Given the description of an element on the screen output the (x, y) to click on. 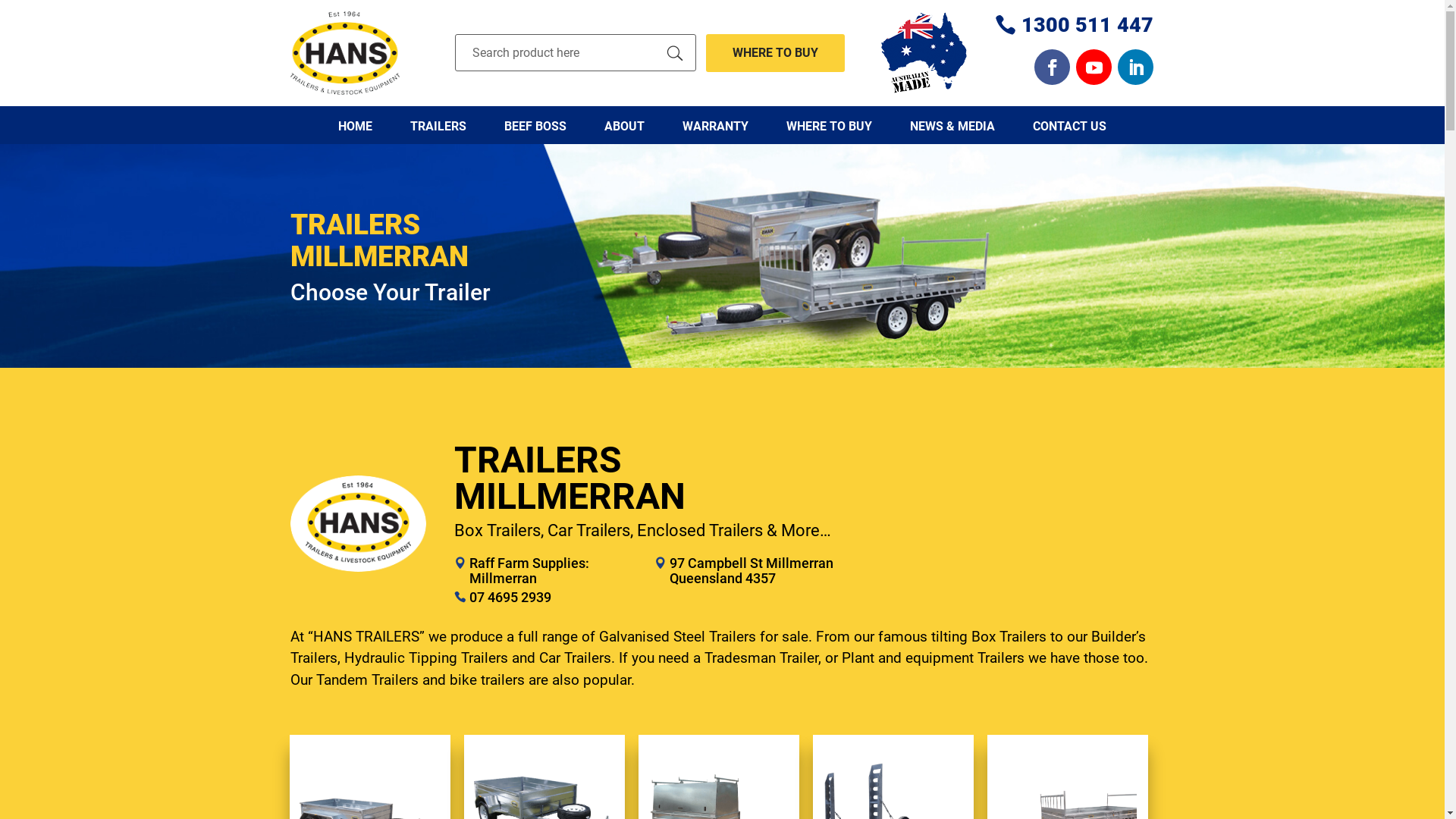
07 4695 2939 Element type: text (510, 597)
Search Element type: text (674, 52)
TRAILERS Element type: text (438, 125)
WHERE TO BUY Element type: text (775, 53)
Follow on Youtube Element type: hover (1093, 66)
Follow on Facebook Element type: hover (1052, 66)
NEWS & MEDIA Element type: text (952, 125)
ABOUT Element type: text (624, 125)
Follow on LinkedIn Element type: hover (1135, 66)
WARRANTY Element type: text (715, 125)
WHERE TO BUY Element type: text (829, 125)
BEEF BOSS Element type: text (535, 125)
CONTACT US Element type: text (1069, 125)
HOME Element type: text (355, 125)
